Given the description of an element on the screen output the (x, y) to click on. 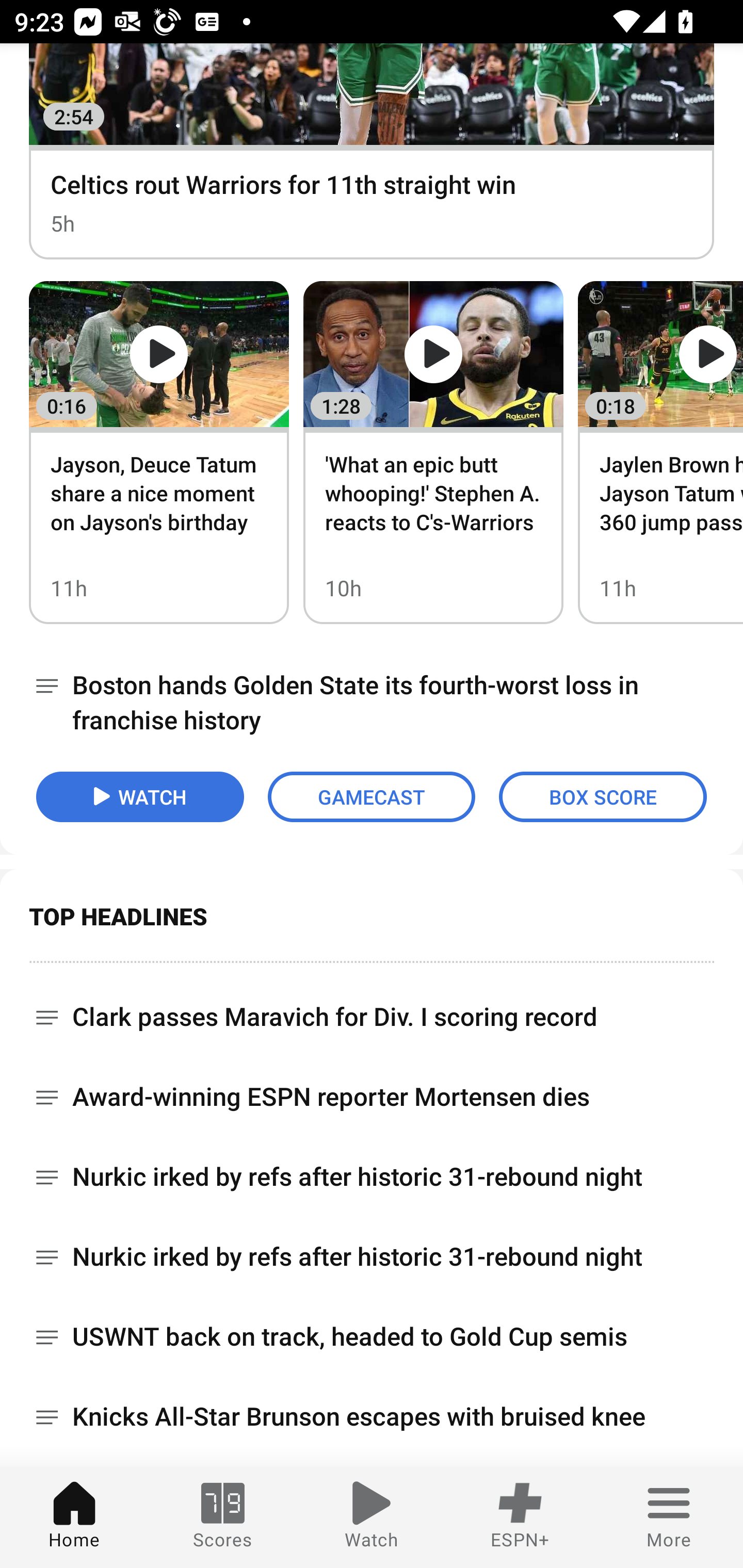
 WATCH (139, 796)
GAMECAST (371, 796)
BOX SCORE (602, 796)
 Clark passes Maravich for Div. I scoring record (371, 1009)
 Award-winning ESPN reporter Mortensen dies (371, 1096)
 USWNT back on track, headed to Gold Cup semis (371, 1336)
Scores (222, 1517)
Watch (371, 1517)
ESPN+ (519, 1517)
More (668, 1517)
